Given the description of an element on the screen output the (x, y) to click on. 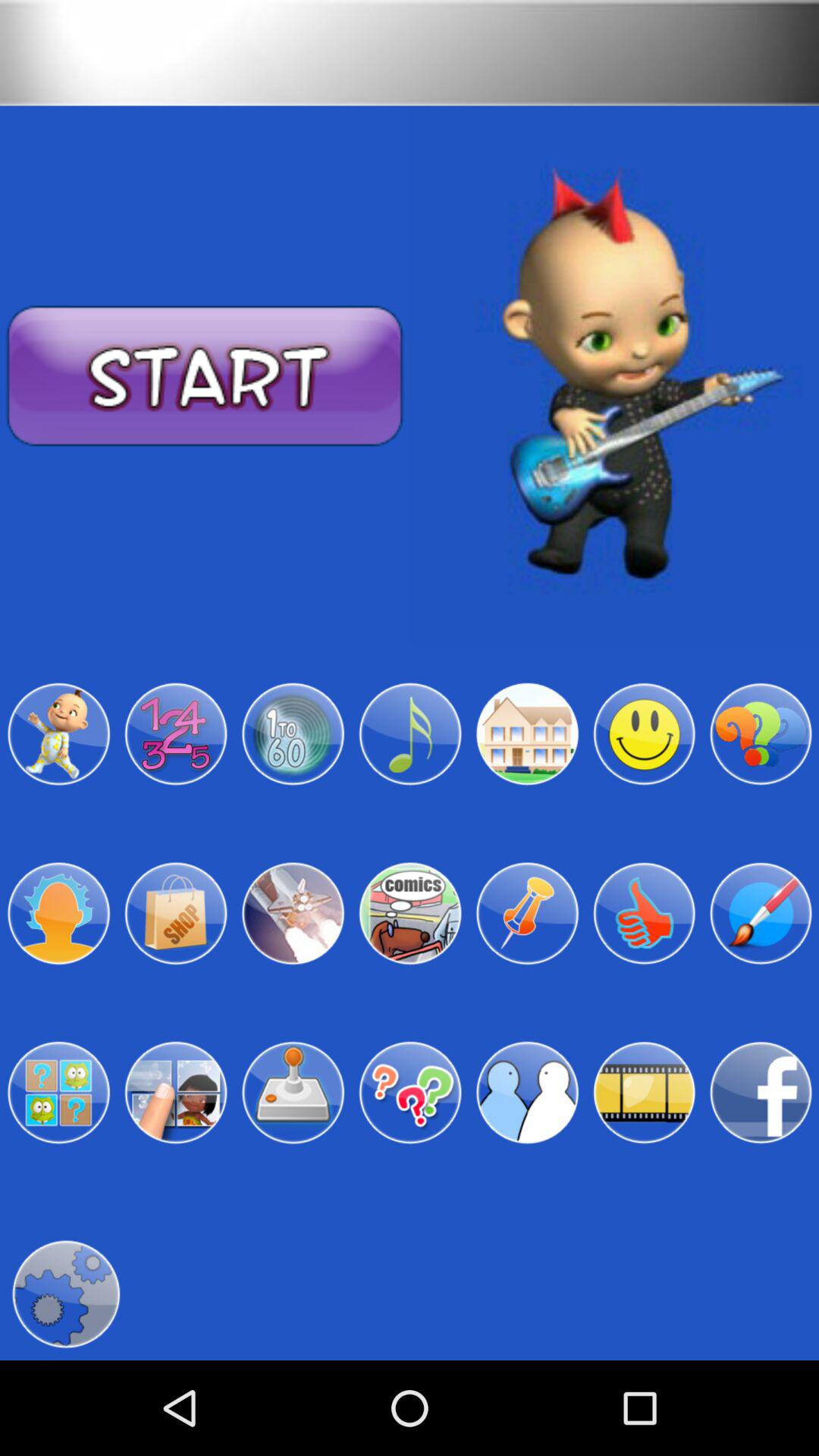
choose pin (526, 913)
